Given the description of an element on the screen output the (x, y) to click on. 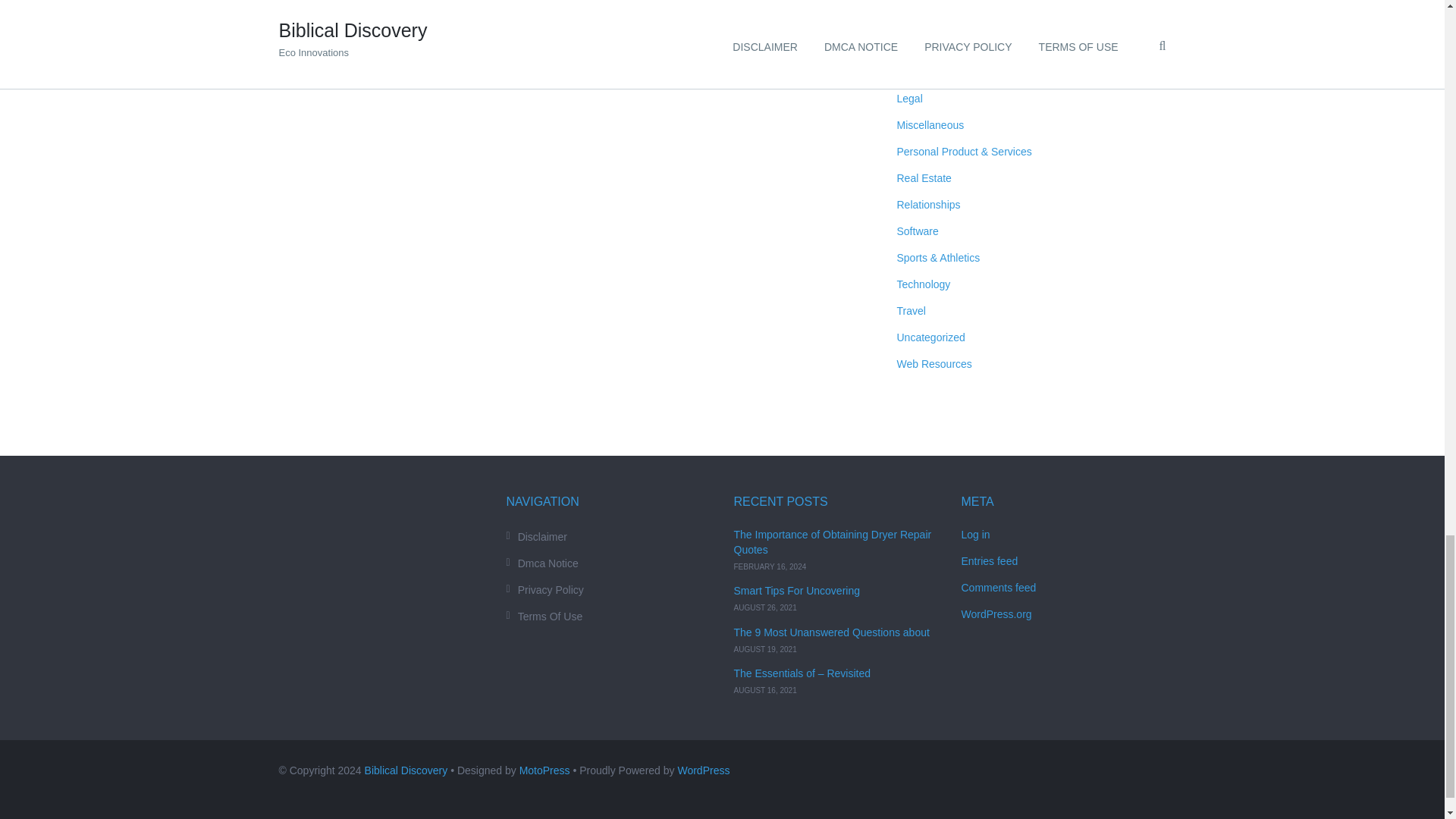
Semantic Personal Publishing Platform (703, 770)
Premium WordPress Plugins and Themes (544, 770)
Biblical Discovery (406, 770)
